Given the description of an element on the screen output the (x, y) to click on. 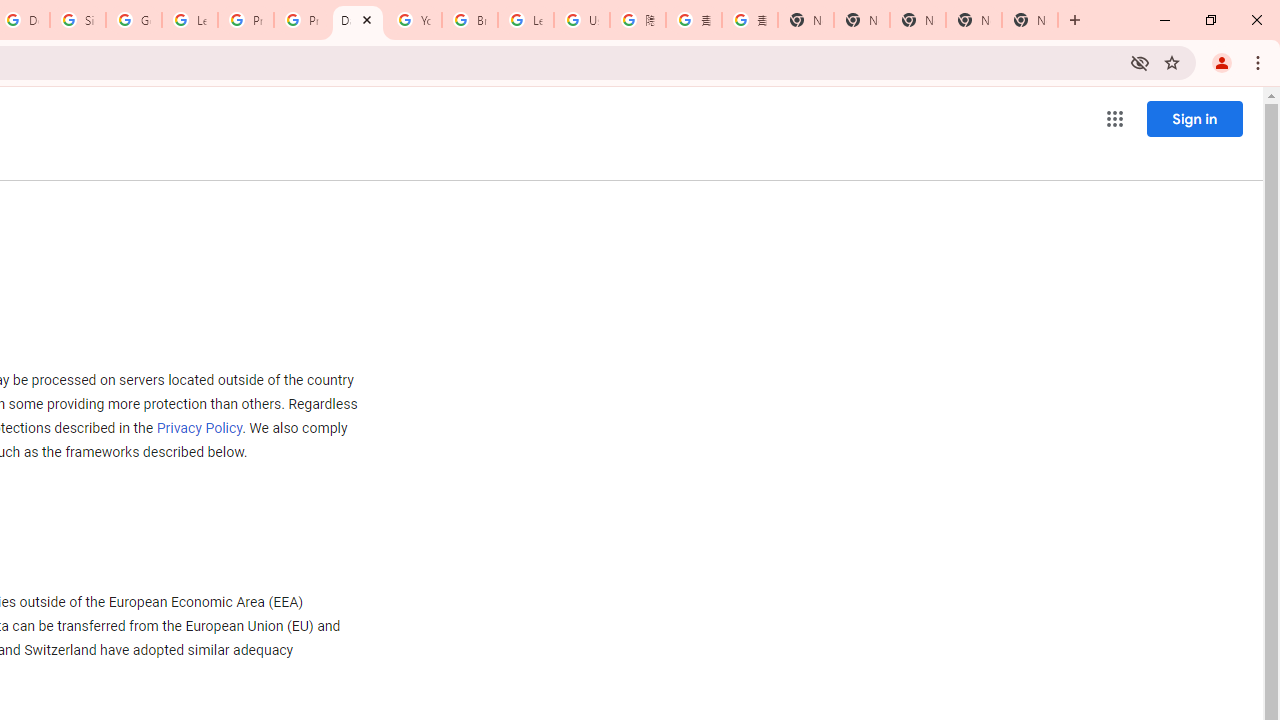
New Tab (806, 20)
Privacy Help Center - Policies Help (245, 20)
Sign in - Google Accounts (77, 20)
